Given the description of an element on the screen output the (x, y) to click on. 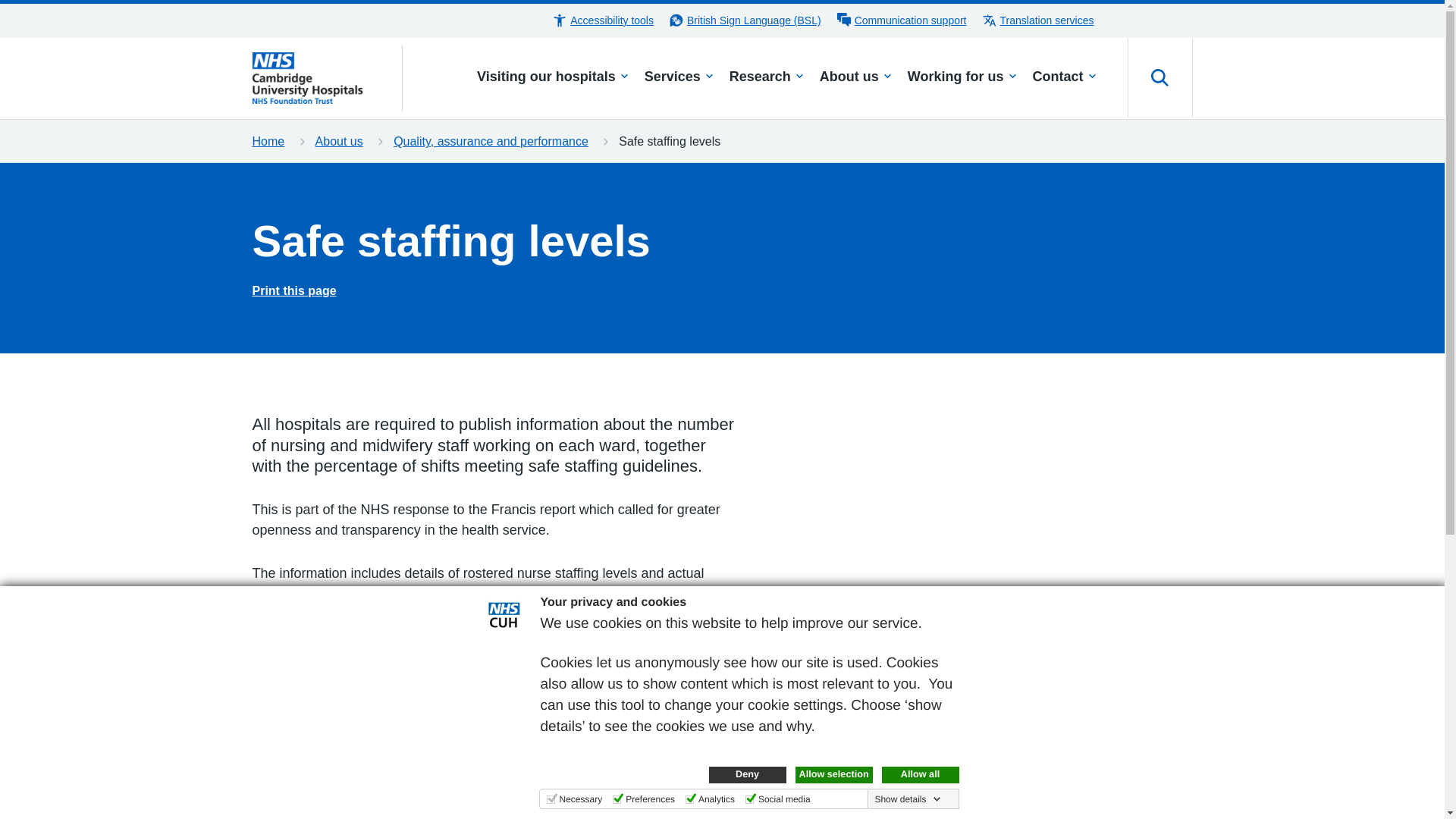
Show details (906, 799)
Deny (746, 774)
Allow selection (833, 774)
Allow all (919, 774)
